Given the description of an element on the screen output the (x, y) to click on. 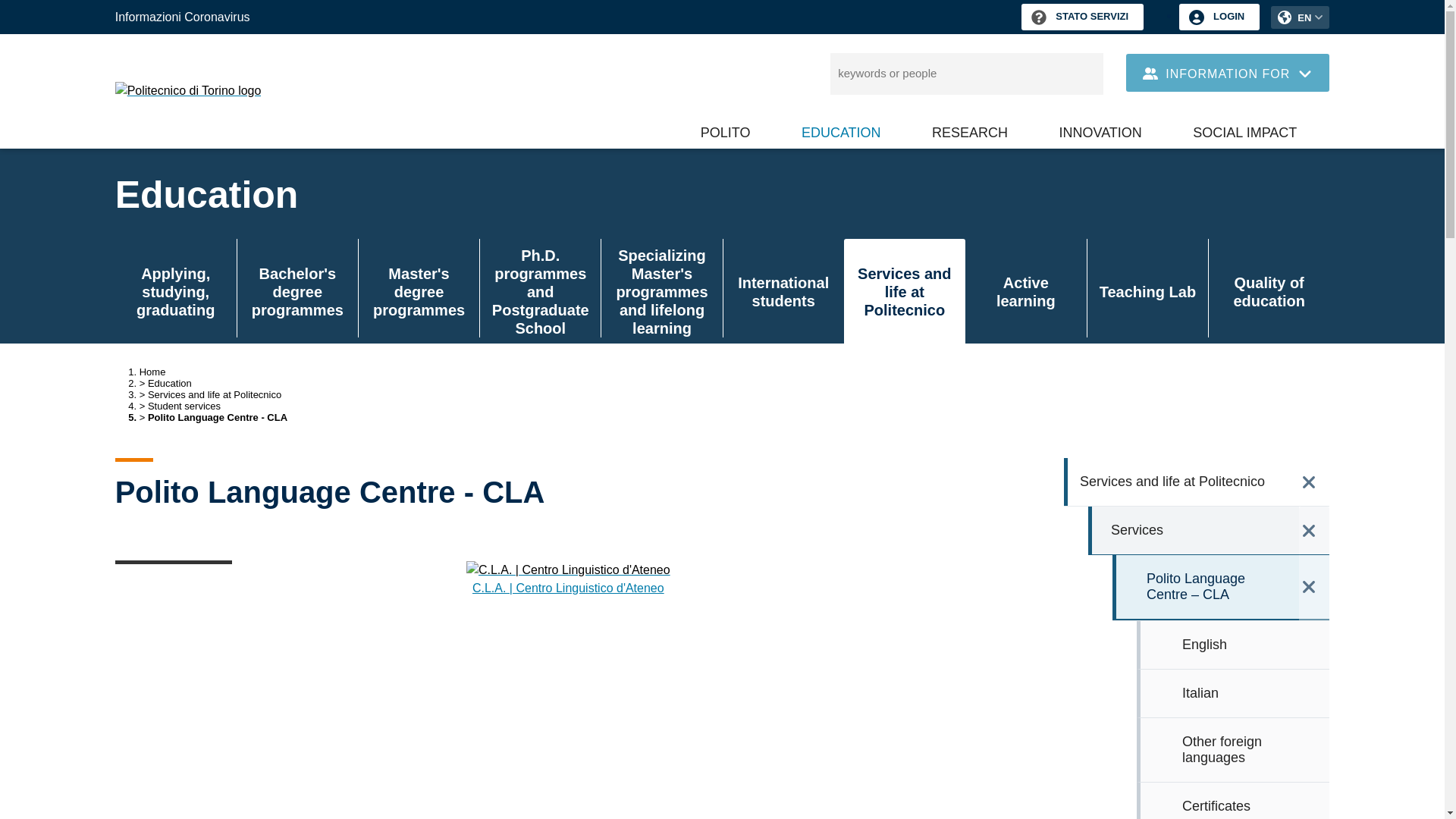
Informazioni Coronavirus (182, 16)
Stato Servizi (1082, 17)
STATO SERVIZI (1082, 17)
Toggle submenu (691, 150)
POLITO (734, 132)
RESEARCH (979, 132)
Education (850, 132)
Search (1084, 74)
EDUCATION (850, 132)
